Given the description of an element on the screen output the (x, y) to click on. 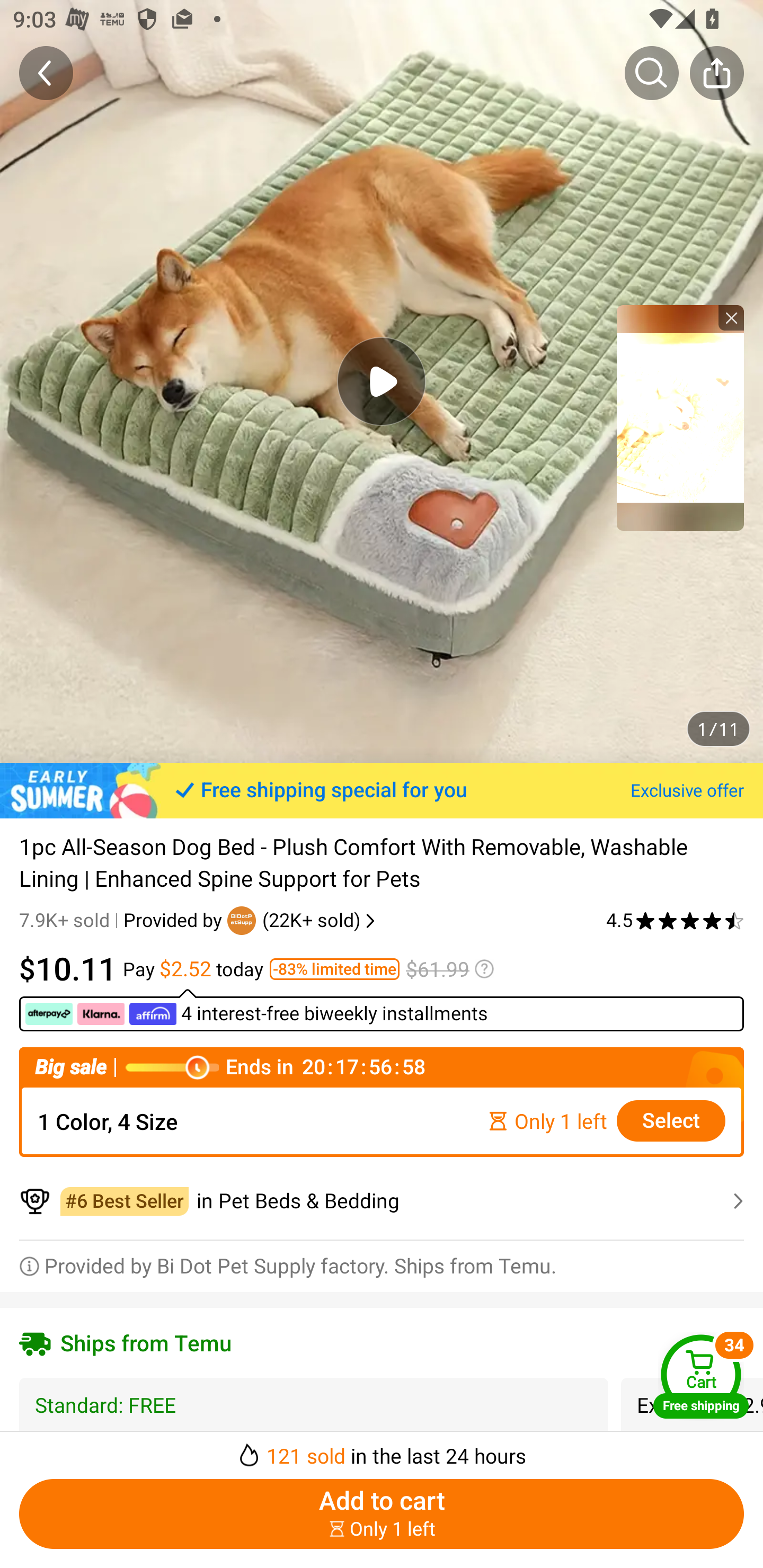
Back (46, 72)
Share (716, 72)
tronplayer_view (680, 417)
Free shipping special for you Exclusive offer (381, 790)
7.9K+ sold Provided by  (123, 920)
4.5 (674, 920)
￼ ￼ ￼ 4 interest-free biweekly installments (381, 1009)
￼ ￼ ￼ 4 interest-free biweekly installments (257, 1014)
Big sale Ends in￼￼ (381, 1067)
1 Color, 4 Size   Only 1 left Select (381, 1121)
Select (670, 1120)
￼￼in Pet Beds & Bedding (381, 1201)
Ships from Temu (381, 1342)
Cart Free shipping Cart (701, 1375)
￼￼121 sold in the last 24 hours (381, 1450)
Add to cart ￼￼Only 1 left (381, 1513)
